Given the description of an element on the screen output the (x, y) to click on. 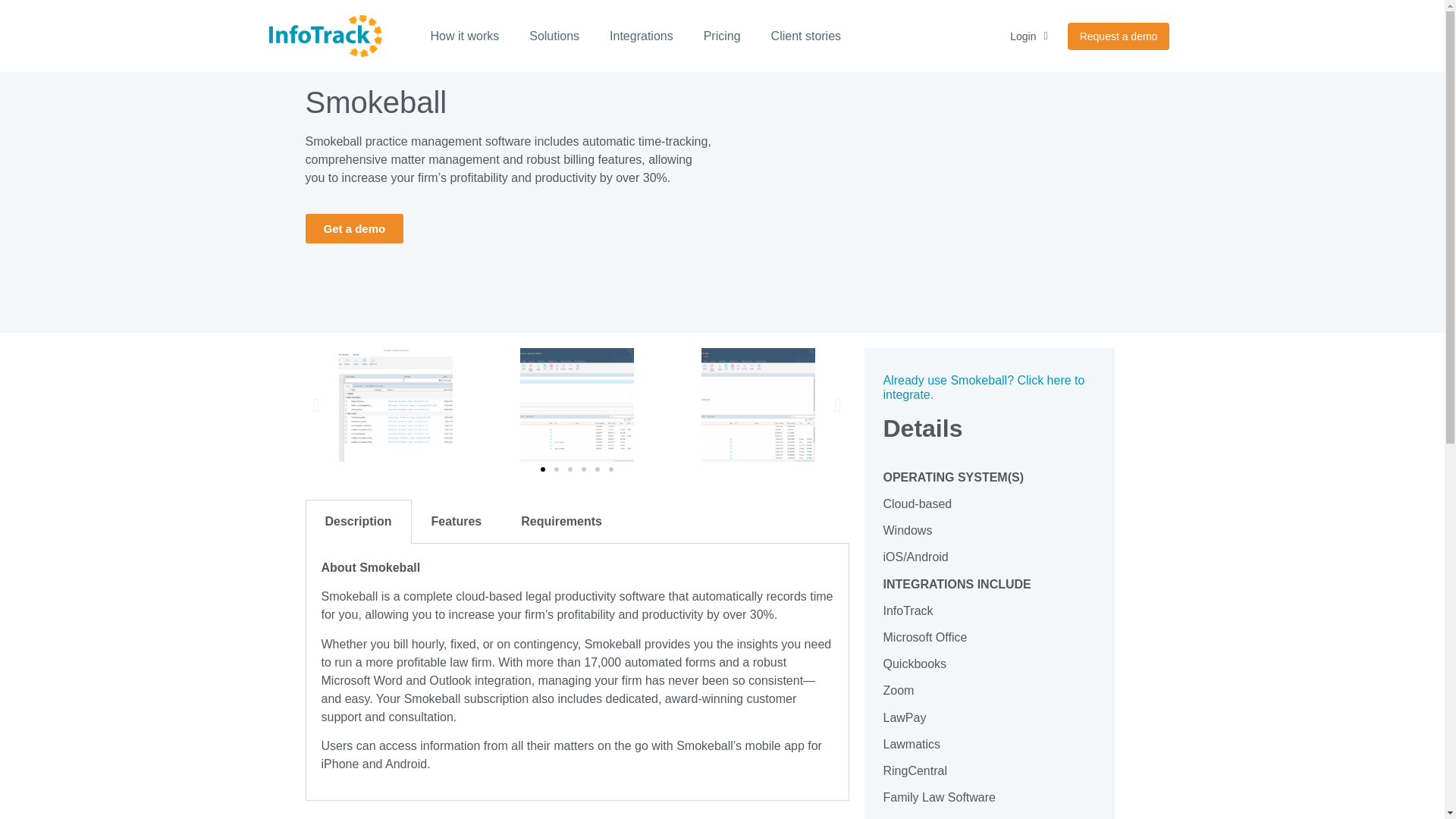
Solutions (553, 36)
Get a demo (353, 228)
Request a demo (1118, 35)
Integrations (641, 36)
Client stories (805, 36)
Login (1028, 35)
Already use Smokeball? Click here to integrate. (983, 387)
Pricing (721, 36)
How it works (464, 36)
